Given the description of an element on the screen output the (x, y) to click on. 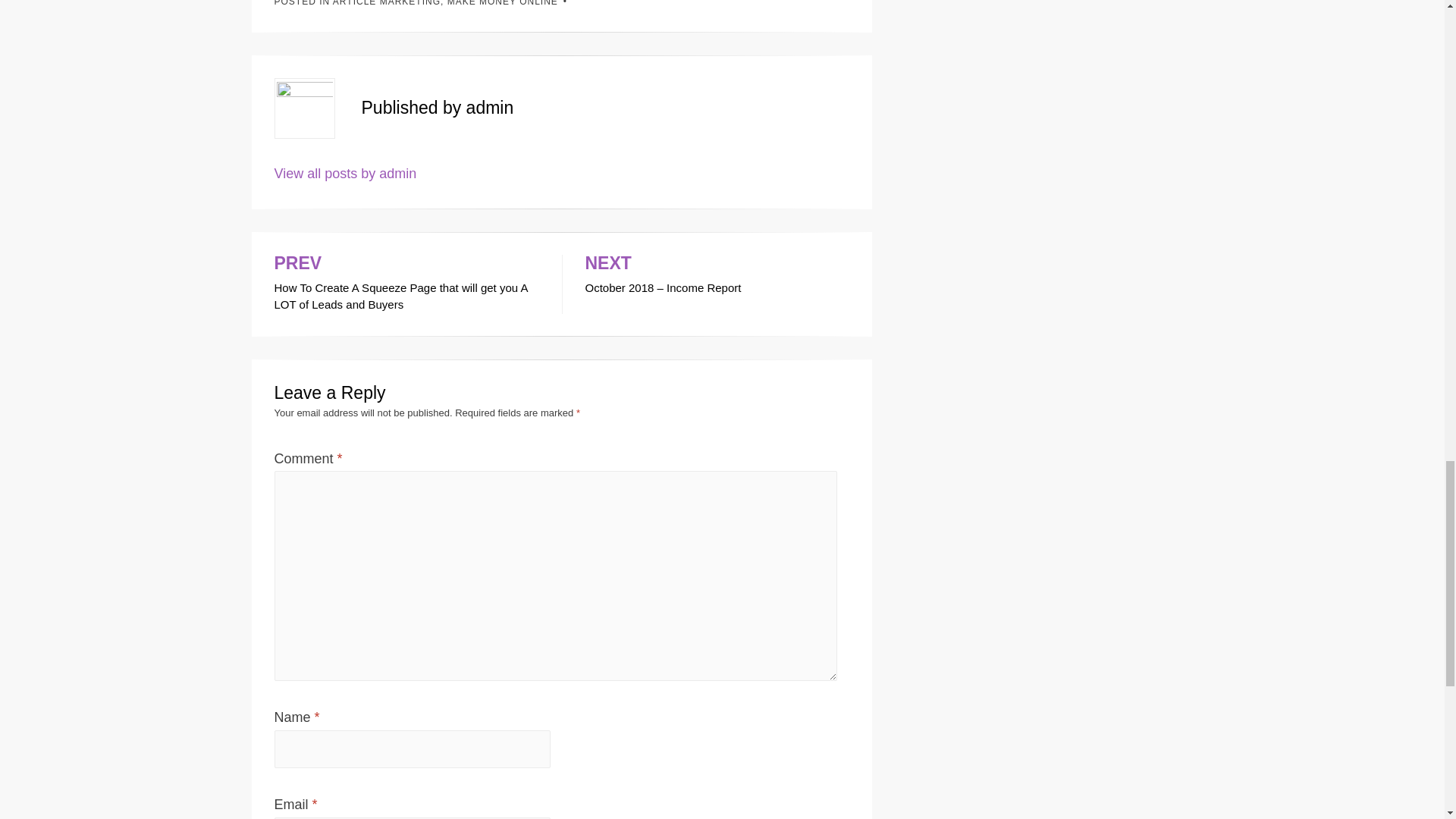
MAKE MONEY ONLINE (501, 3)
View all posts by admin (345, 173)
ARTICLE MARKETING (387, 3)
